Given the description of an element on the screen output the (x, y) to click on. 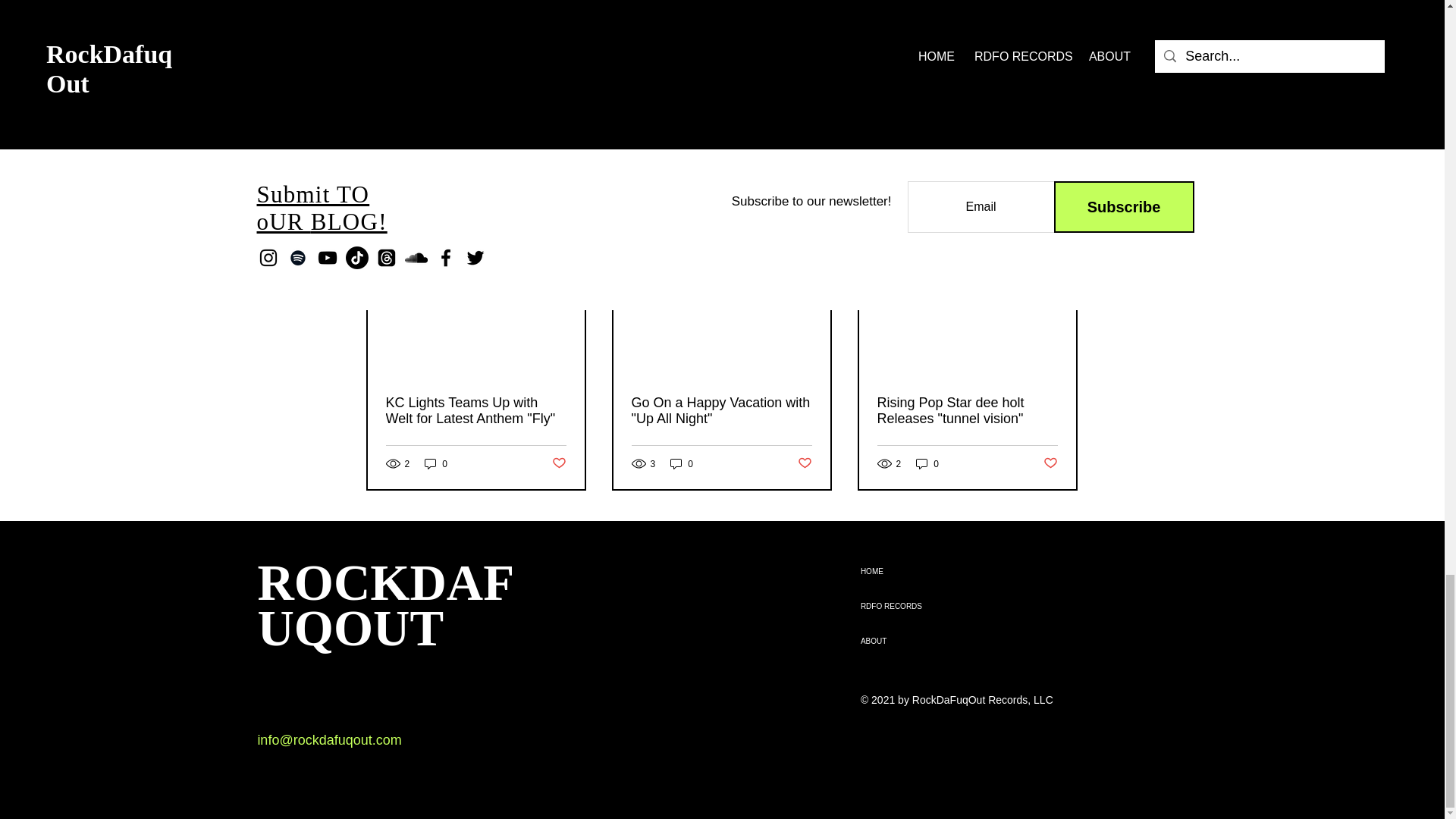
KC Lights Teams Up with Welt for Latest Anthem "Fly" (475, 410)
0 (681, 463)
0 (927, 463)
Rising Pop Star dee holt Releases "tunnel vision" (966, 410)
Post not marked as liked (995, 143)
See All (1061, 227)
0 (435, 463)
Post not marked as liked (1050, 463)
Post not marked as liked (558, 463)
Post not marked as liked (804, 463)
Go On a Happy Vacation with "Up All Night" (720, 410)
